Given the description of an element on the screen output the (x, y) to click on. 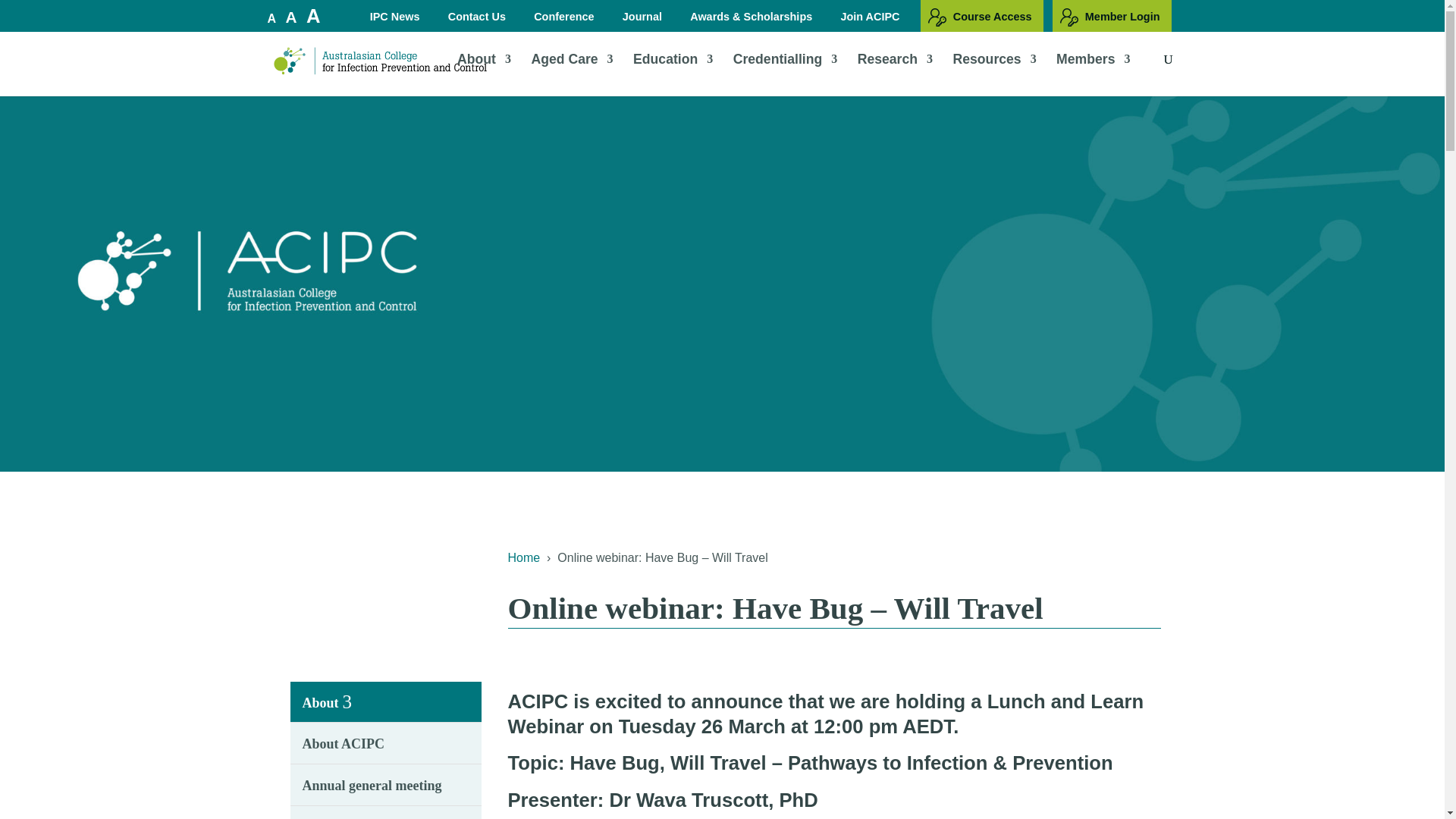
IPC News (396, 20)
Journal (643, 20)
Conference (565, 20)
Course Access (981, 15)
Member Login (1112, 15)
Contact Us (478, 20)
Join ACIPC (871, 20)
Aged Care (571, 74)
About (484, 74)
